Given the description of an element on the screen output the (x, y) to click on. 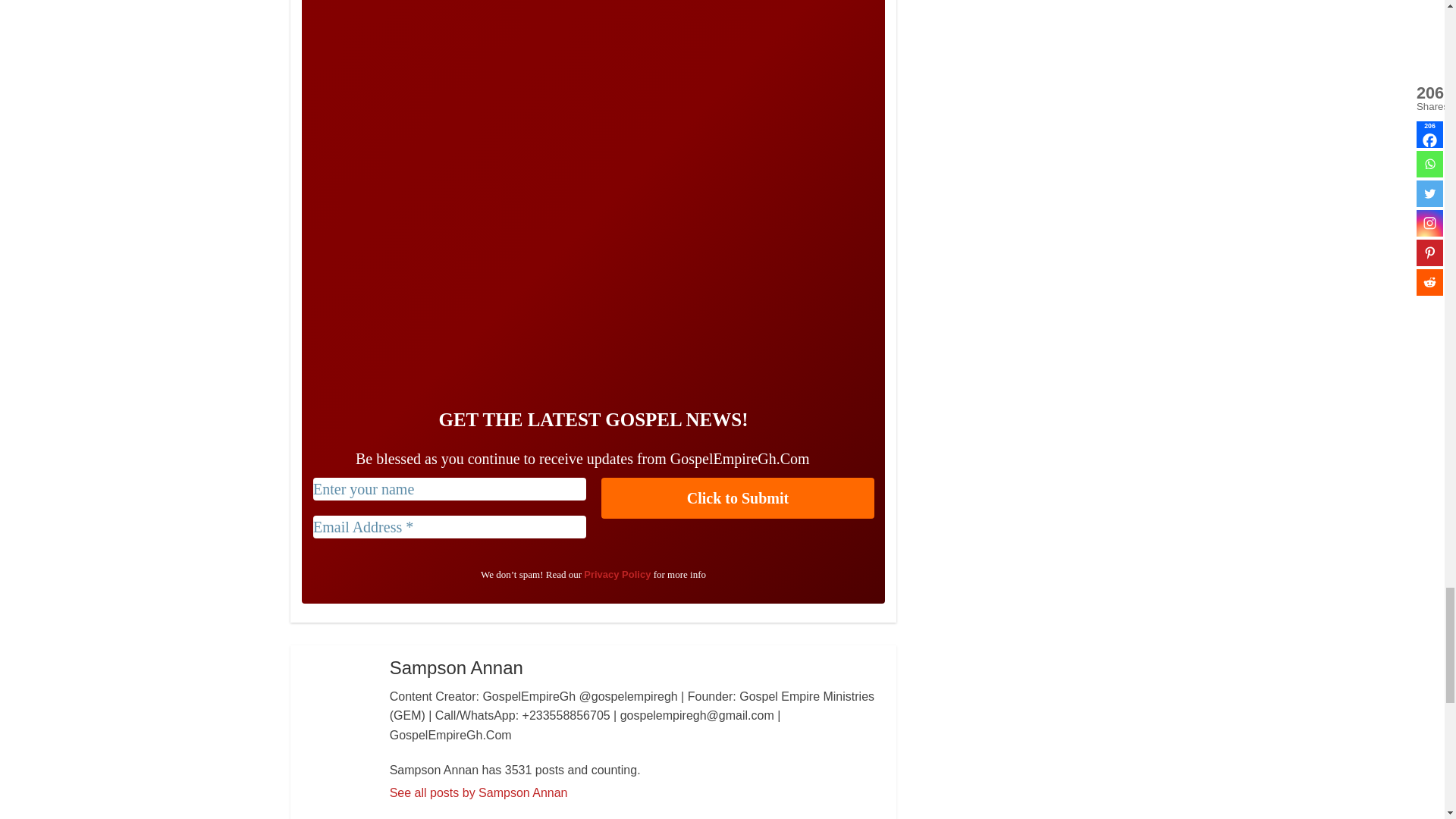
Email Address (449, 526)
Enter your name (449, 488)
Click to Submit (736, 497)
